Given the description of an element on the screen output the (x, y) to click on. 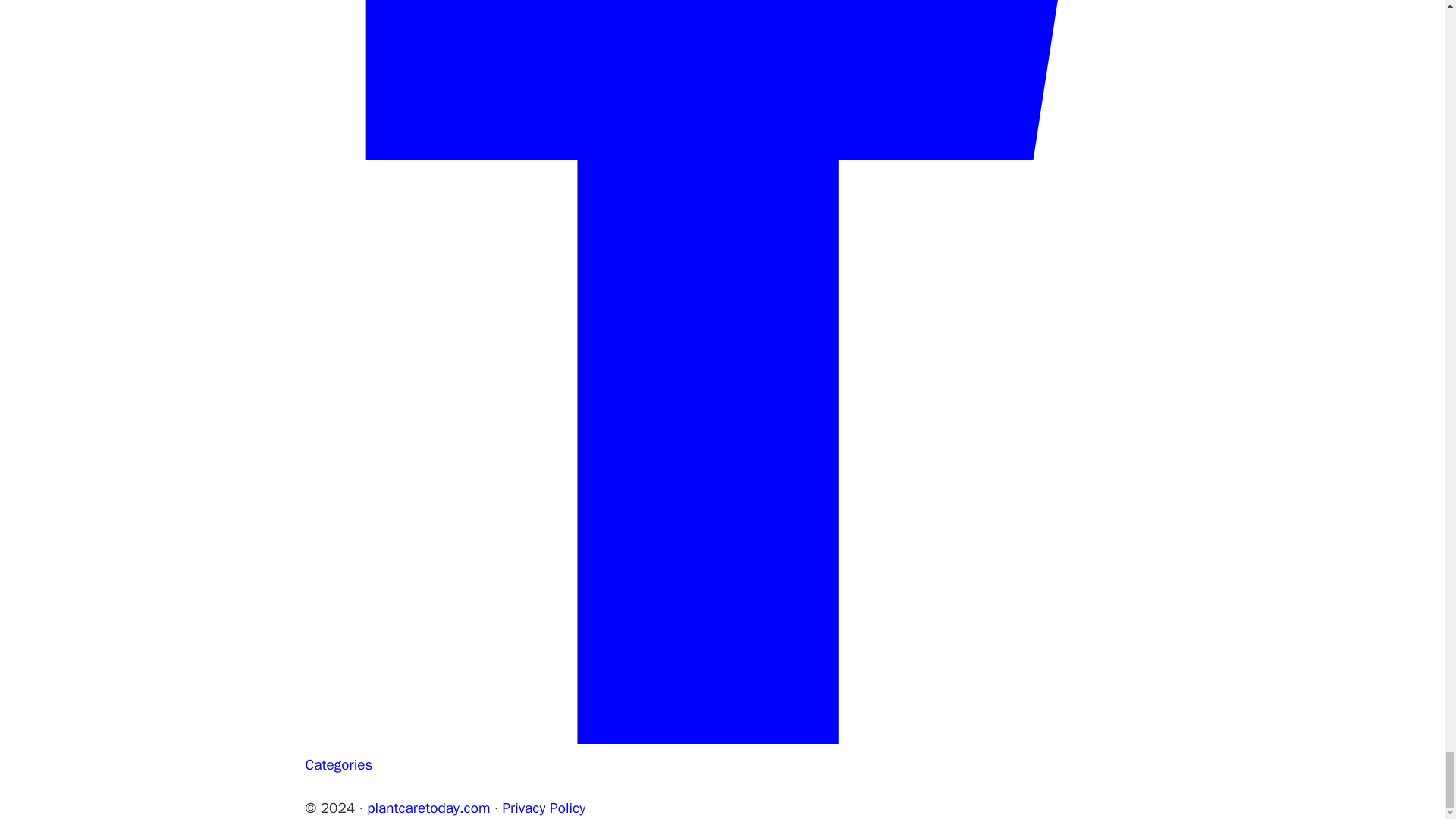
Privacy Policy (543, 808)
Categories (338, 764)
plantcaretoday.com (427, 808)
